Given the description of an element on the screen output the (x, y) to click on. 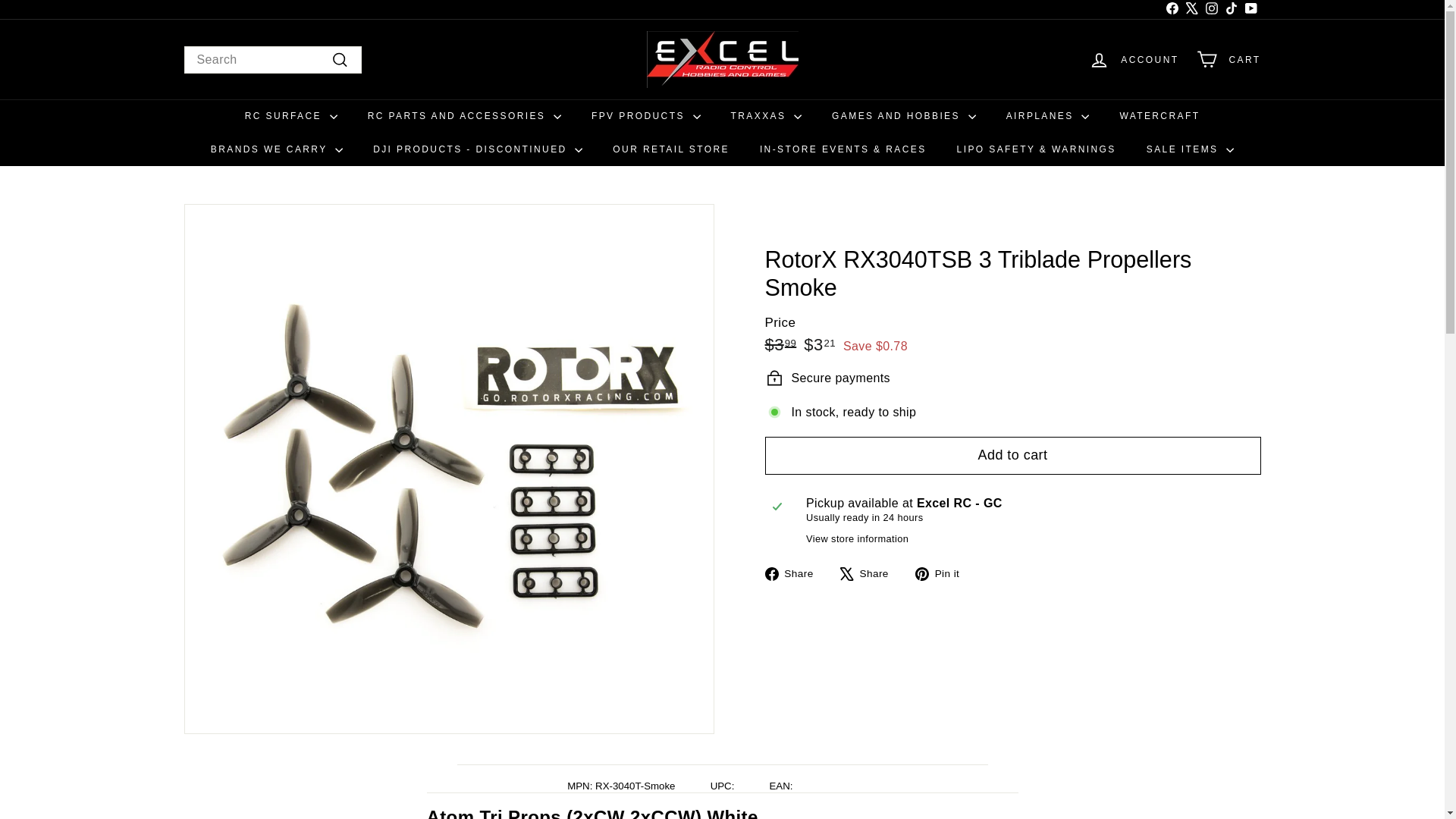
TikTok (1230, 9)
Excel RC on Instagram (1211, 9)
Excel RC on YouTube (1211, 9)
Facebook (1250, 9)
Excel RC on X (1170, 9)
instagram (1190, 9)
YouTube (1211, 8)
Excel RC on TikTok (1250, 9)
CART (1230, 9)
